Given the description of an element on the screen output the (x, y) to click on. 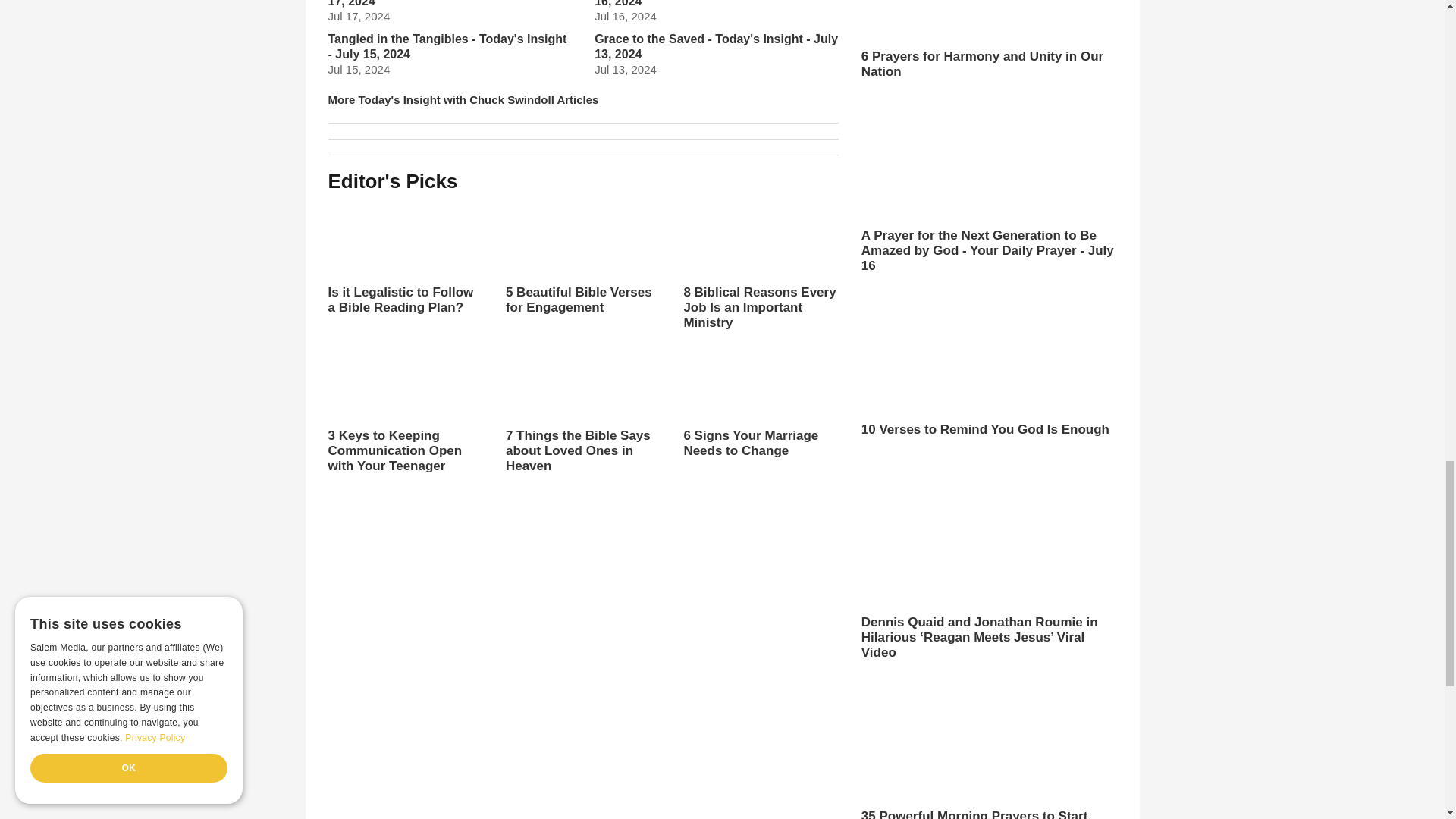
3 Keys to Keeping Communication Open with Your Teenager (404, 409)
5 Beautiful Bible Verses for Engagement (583, 271)
8 Biblical Reasons Every Job Is an Important Ministry (760, 264)
6 Signs Your Marriage Needs to Change (760, 401)
7 Things the Bible Says about Loved Ones in Heaven (583, 423)
Is it Legalistic to Follow a Bible Reading Plan? (404, 257)
